Given the description of an element on the screen output the (x, y) to click on. 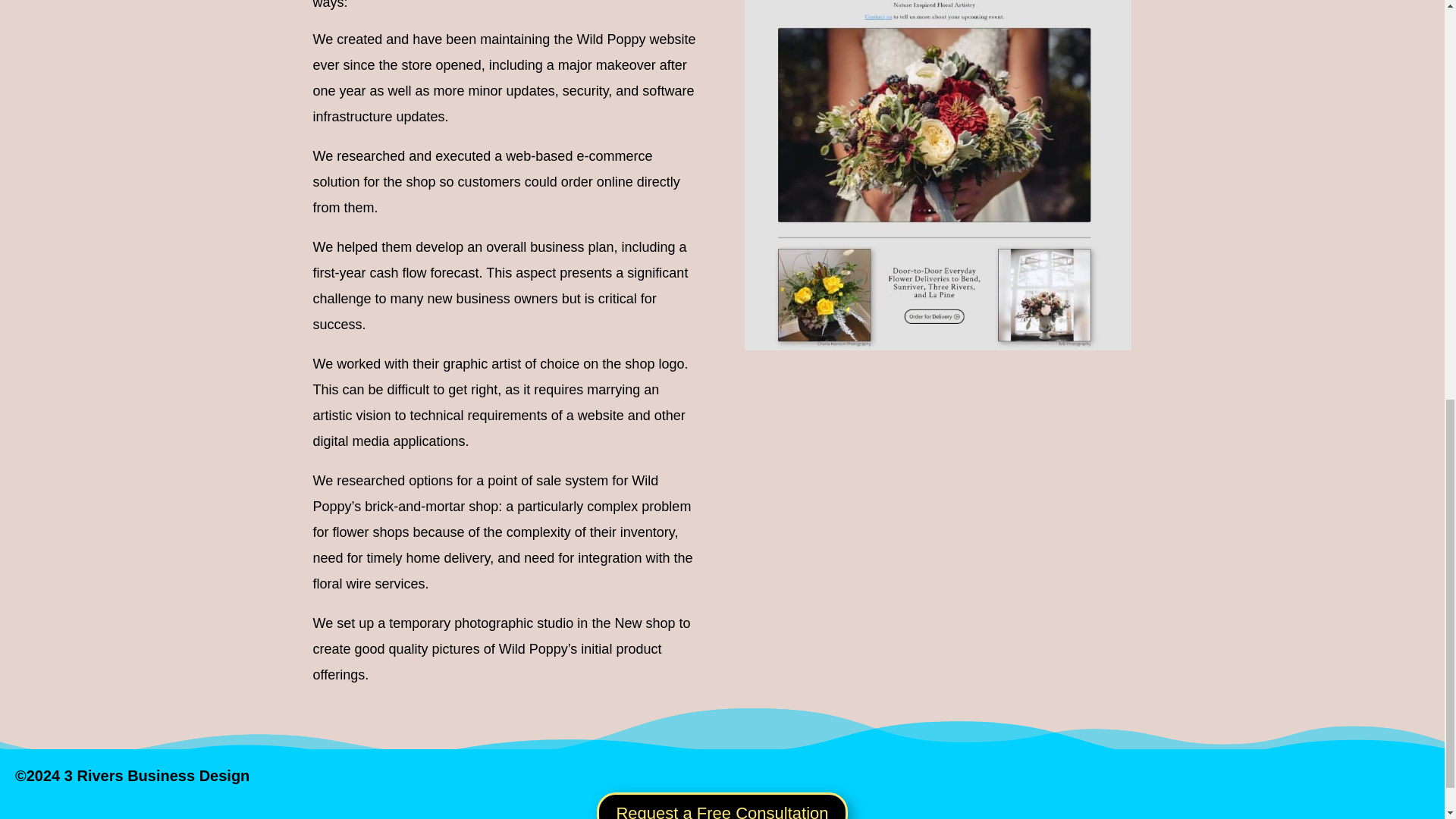
Request a Free Consultation (721, 805)
